Given the description of an element on the screen output the (x, y) to click on. 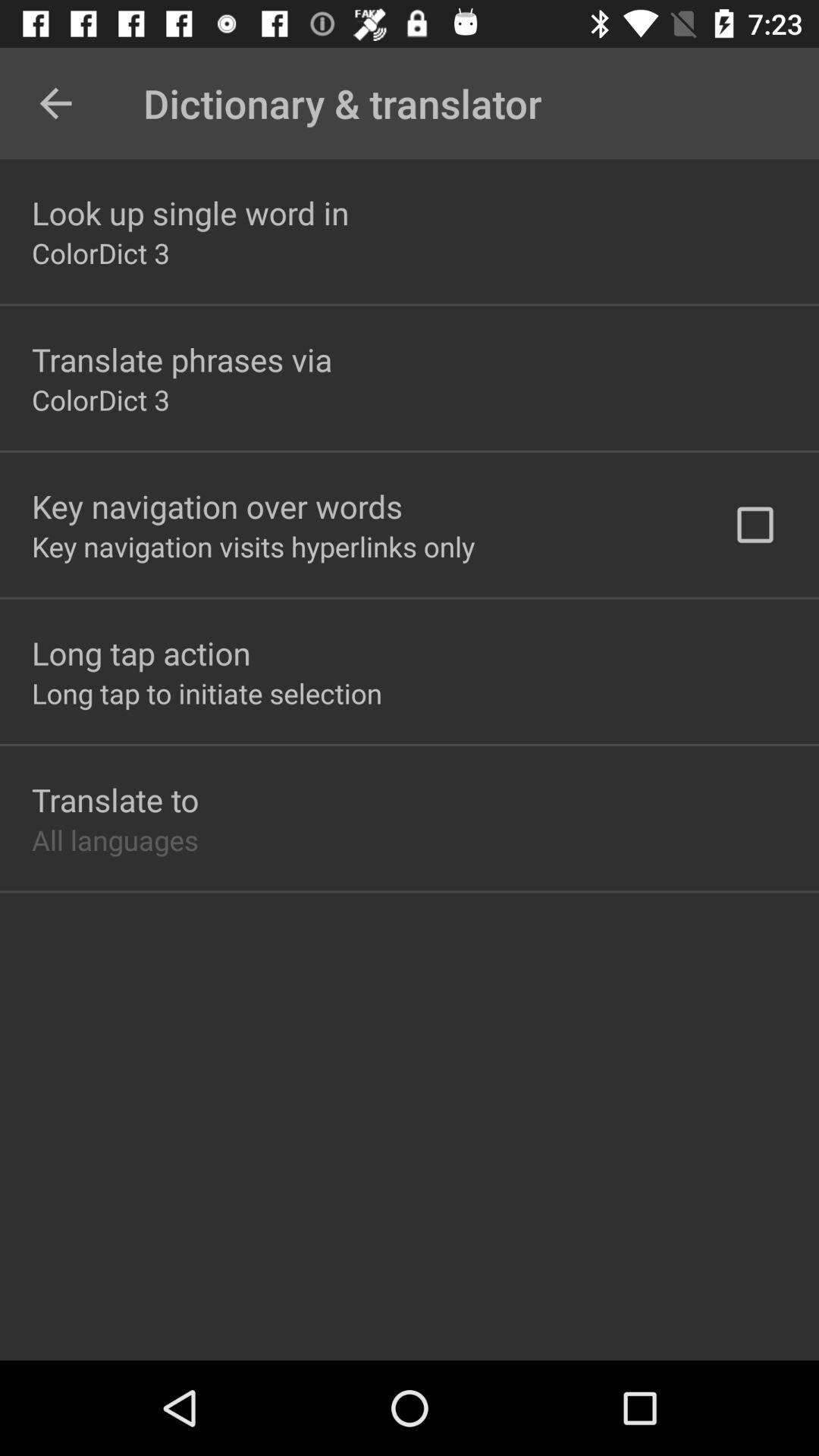
open the icon on the right (755, 524)
